Given the description of an element on the screen output the (x, y) to click on. 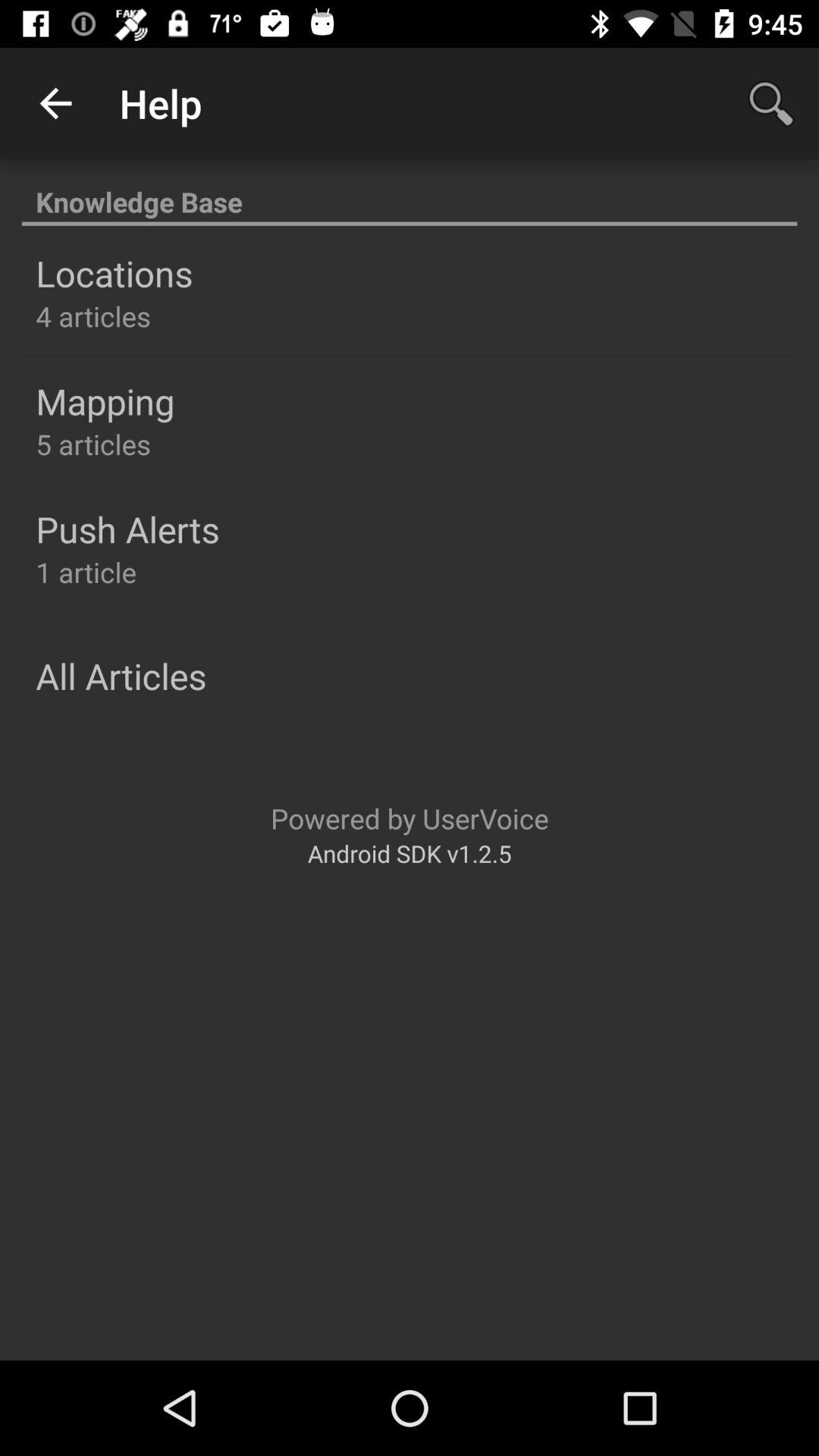
tap the all articles (120, 675)
